Given the description of an element on the screen output the (x, y) to click on. 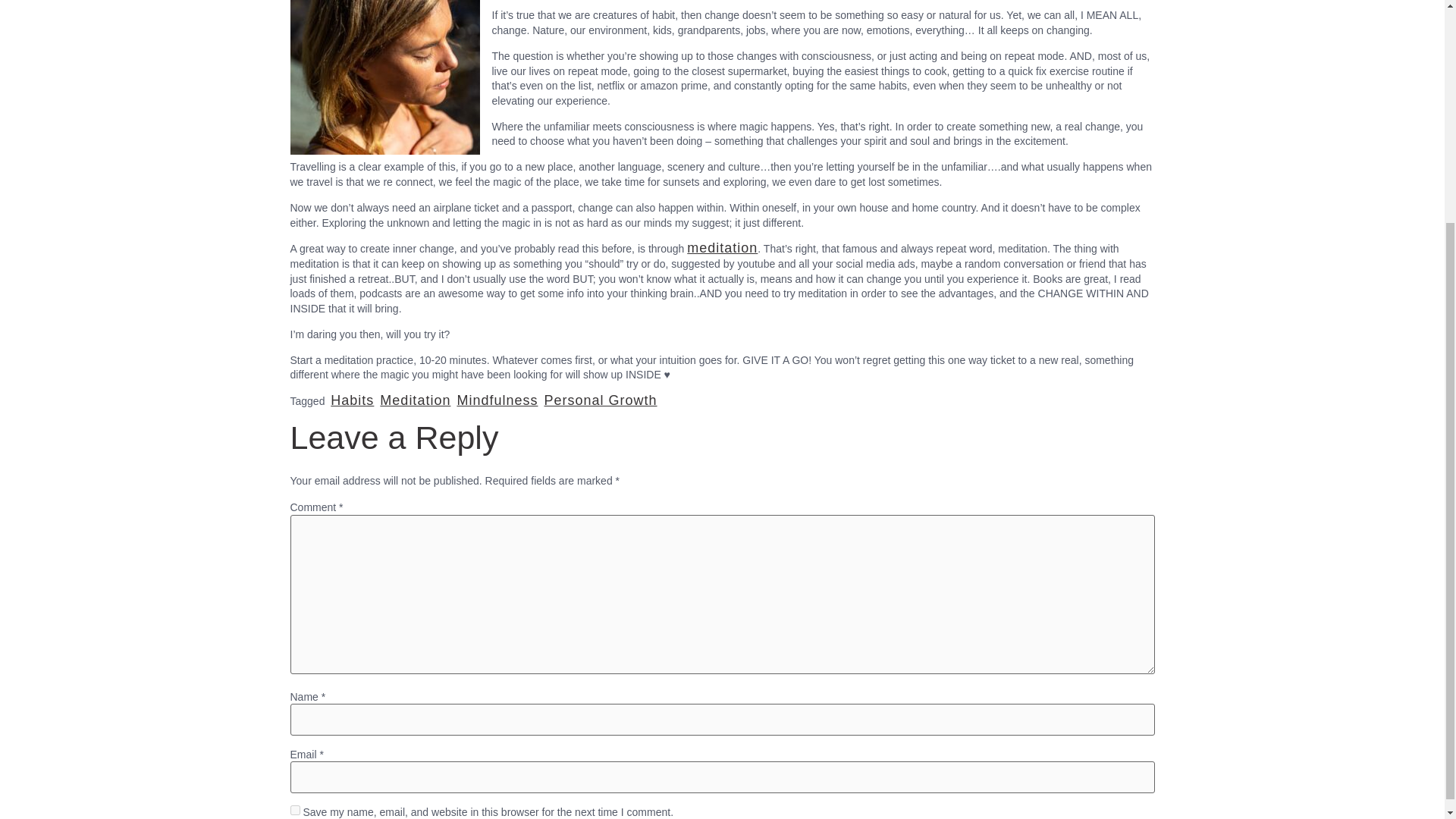
Mindfulness (497, 400)
meditation (722, 247)
Habits (352, 400)
yes (294, 809)
Meditation (414, 400)
Personal Growth (599, 400)
